Given the description of an element on the screen output the (x, y) to click on. 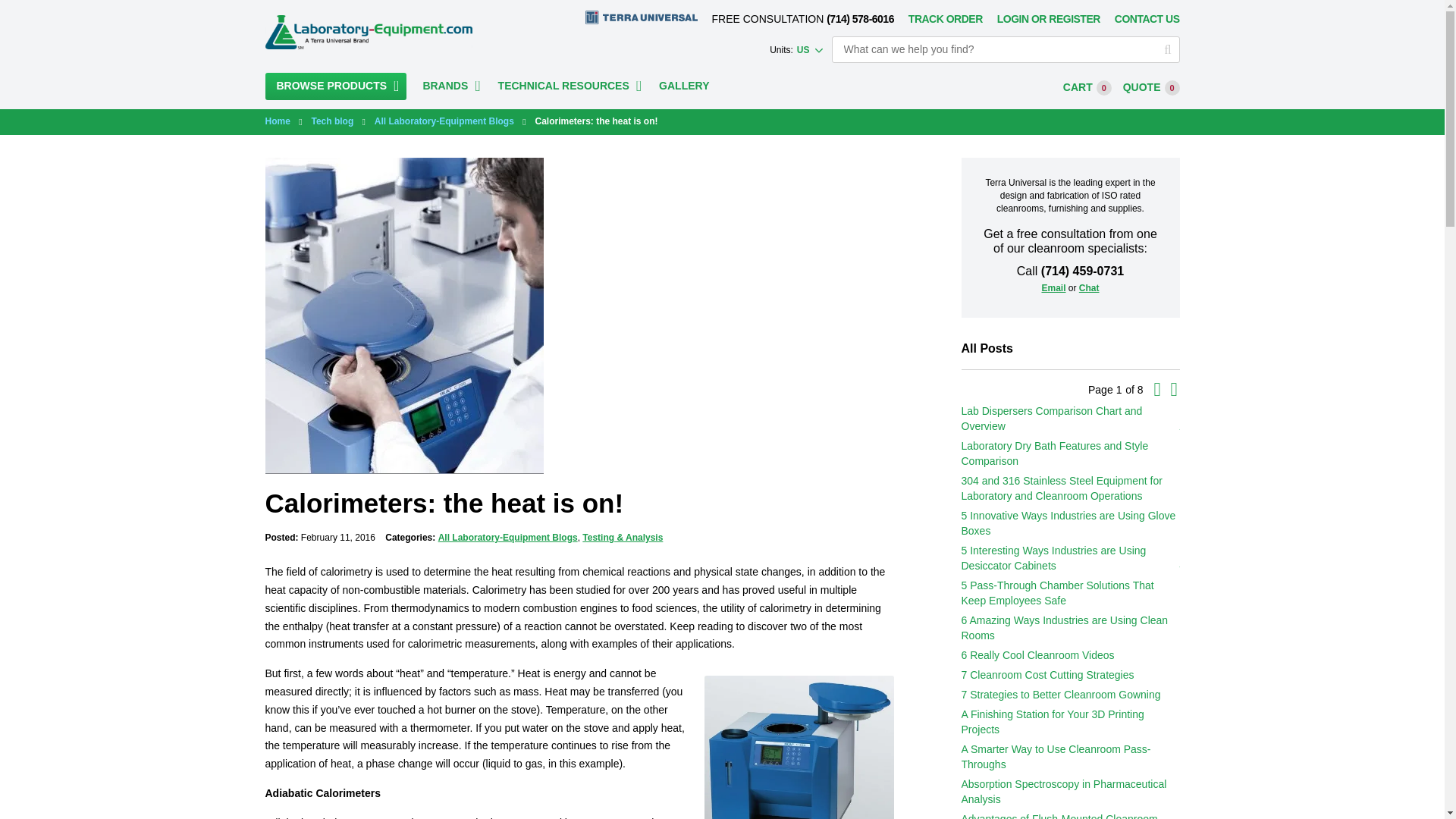
Login or register (1048, 19)
TRACK ORDER (945, 19)
Laboratory-Equipment Home (367, 32)
Search (1164, 49)
BROWSEPRODUCTS (335, 85)
Brands (454, 85)
CONTACT US (1147, 19)
Browse Products (335, 85)
LOGIN OR REGISTER (1048, 19)
SEARCH (1164, 49)
